Given the description of an element on the screen output the (x, y) to click on. 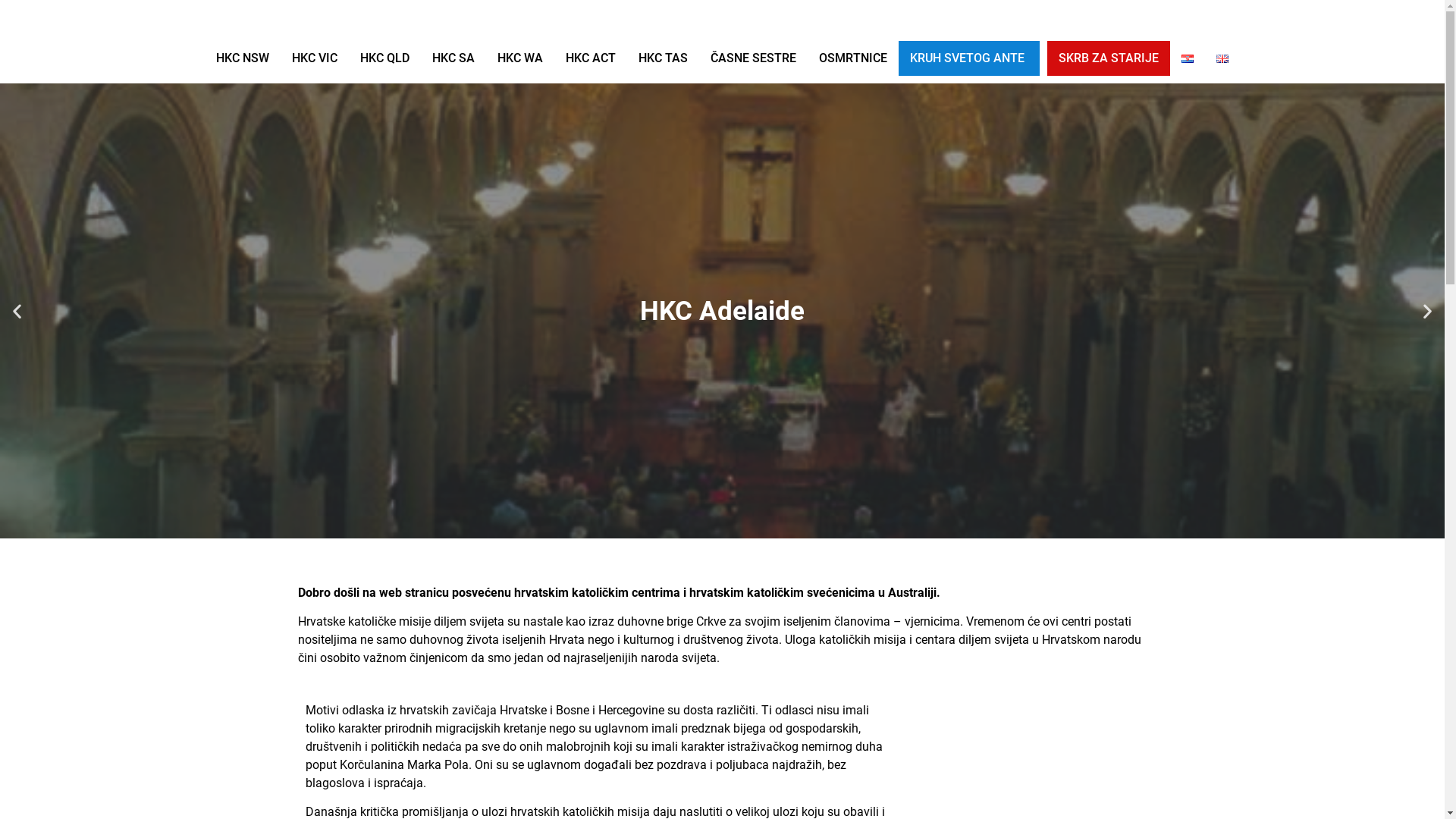
SKRB ZA STARIJE Element type: text (1108, 57)
HKC NSW Element type: text (242, 57)
KRUH SVETOG ANTE Element type: text (967, 57)
HKC QLD Element type: text (384, 57)
OSMRTNICE Element type: text (852, 57)
HKC SA Element type: text (453, 57)
HKC WA Element type: text (519, 57)
HKC ACT Element type: text (590, 57)
HKC Adelaide Element type: text (722, 310)
HKC TAS Element type: text (662, 57)
HKC VIC Element type: text (314, 57)
